Given the description of an element on the screen output the (x, y) to click on. 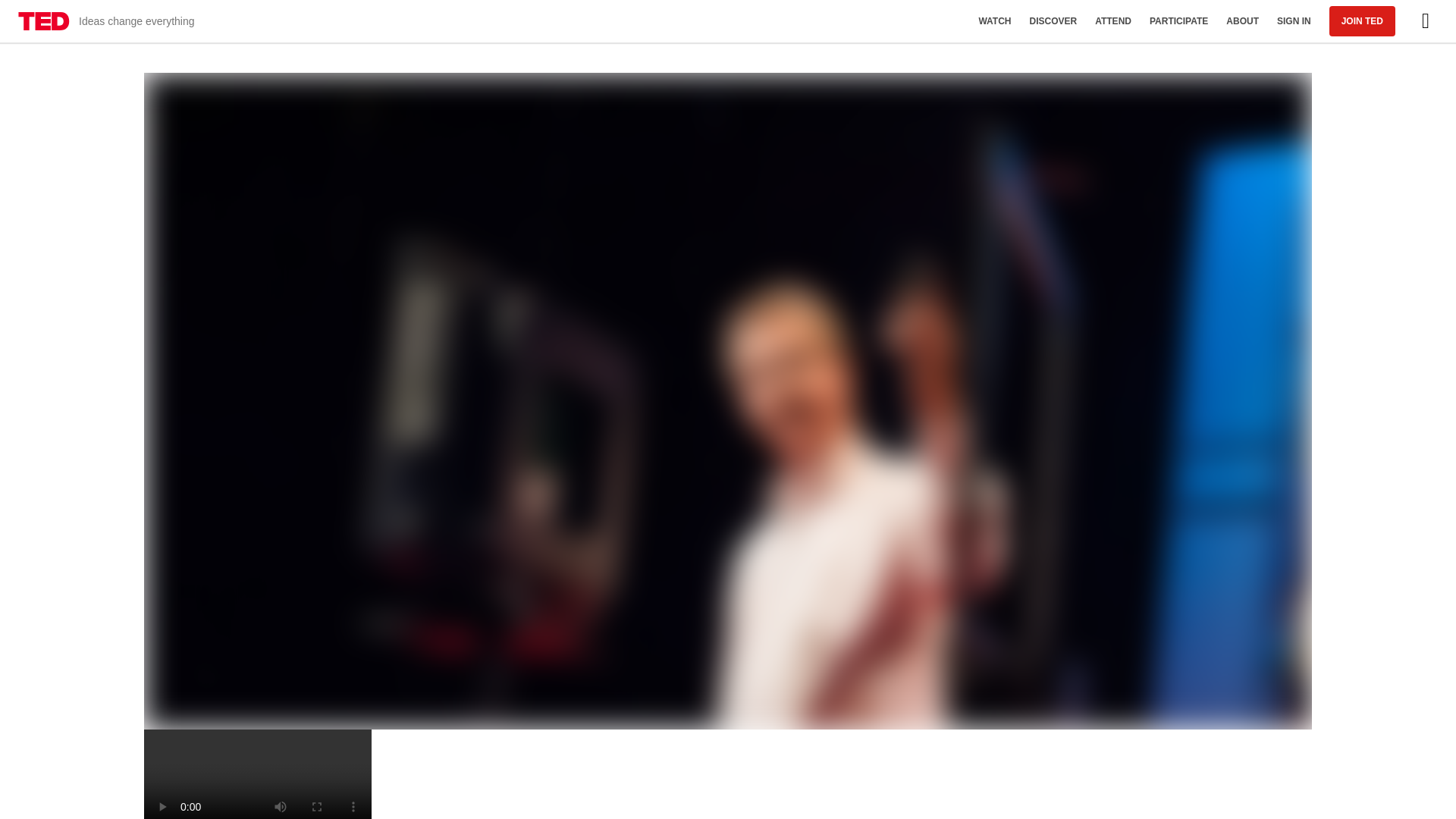
SIGN IN (1294, 21)
Ideas change everything (106, 21)
PARTICIPATE (1178, 21)
ATTEND (1113, 21)
DISCOVER (1053, 21)
JOIN TED (1361, 20)
WATCH (994, 21)
ABOUT (1242, 21)
